Given the description of an element on the screen output the (x, y) to click on. 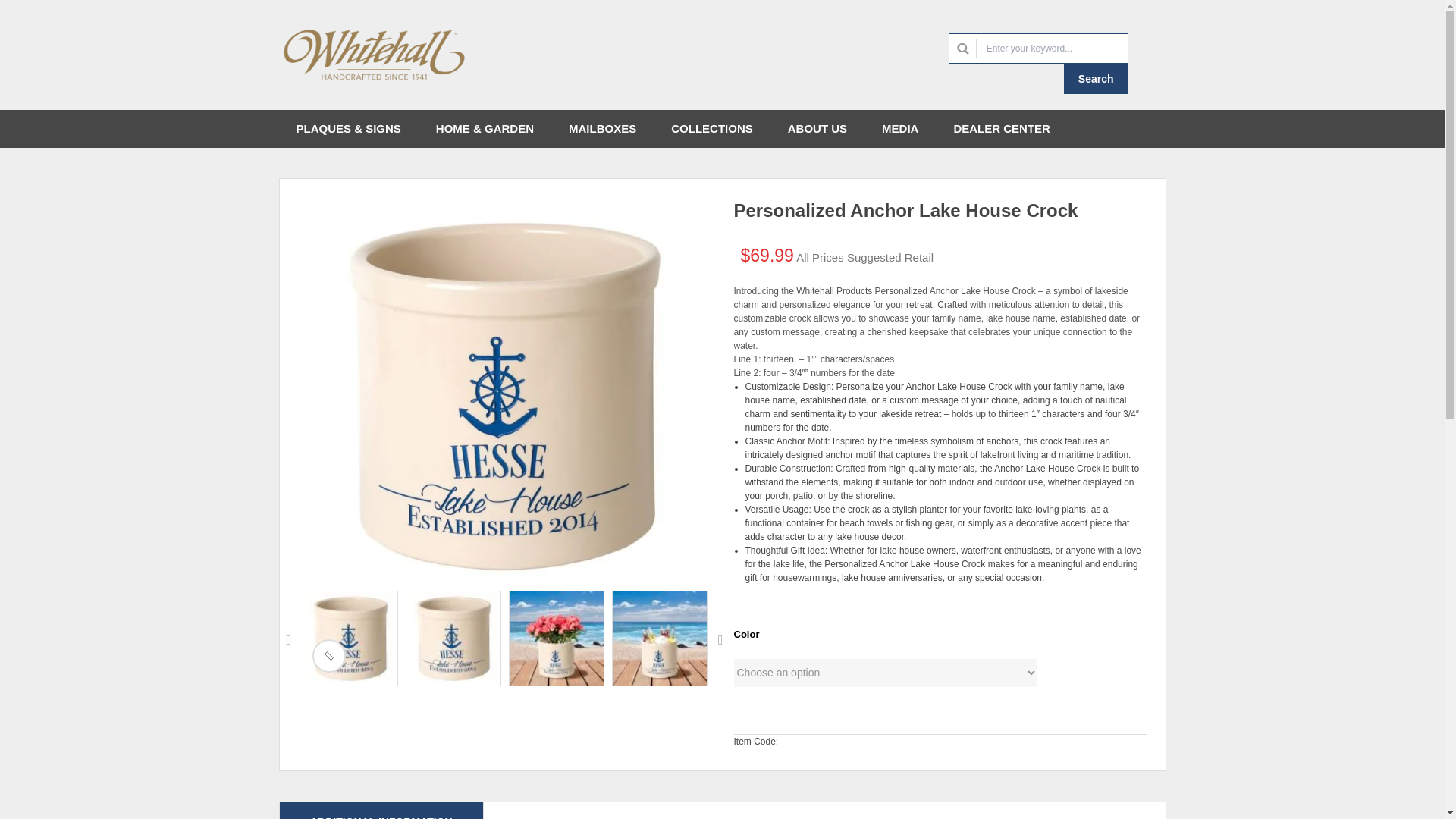
Search (1096, 78)
COLLECTIONS (711, 128)
MAILBOXES (602, 128)
Search (1096, 78)
